Given the description of an element on the screen output the (x, y) to click on. 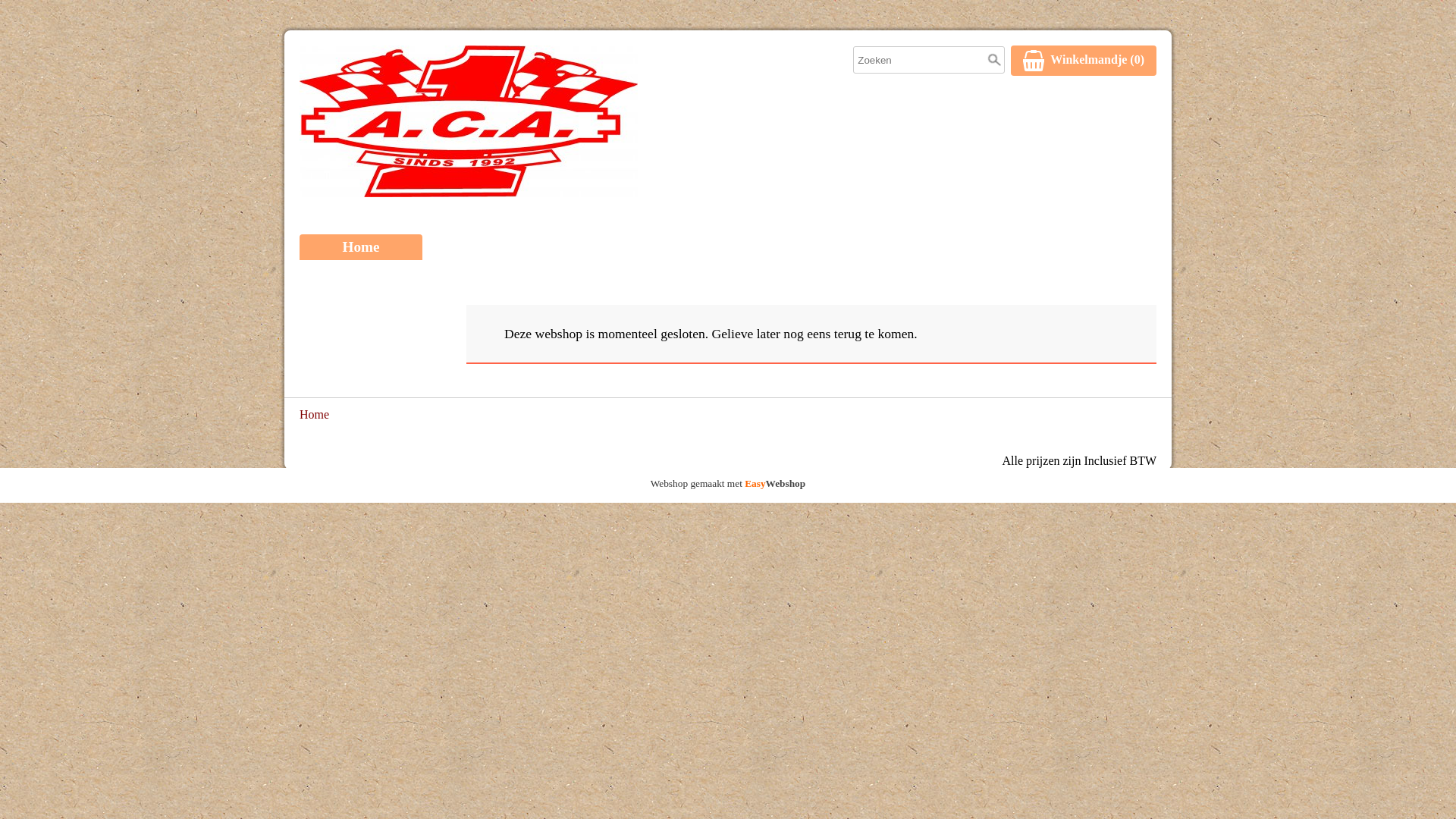
Home Element type: text (314, 415)
WinkelmandjeWinkelmandje (0) Element type: text (1083, 60)
Webshop gemaakt met EasyWebshop Element type: text (727, 485)
Home Element type: text (360, 247)
